Given the description of an element on the screen output the (x, y) to click on. 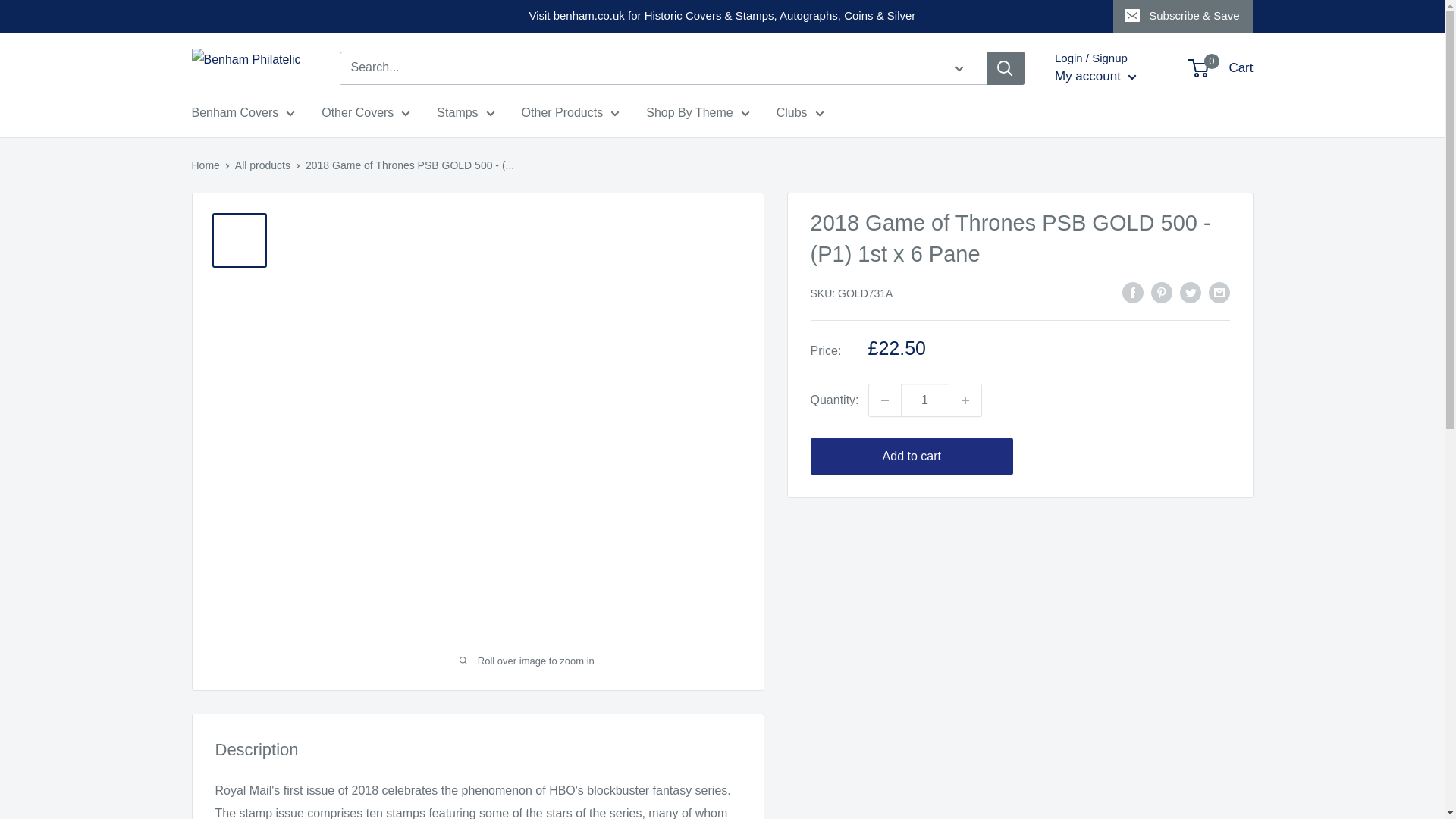
1 (925, 400)
Increase quantity by 1 (965, 400)
Decrease quantity by 1 (885, 400)
